Given the description of an element on the screen output the (x, y) to click on. 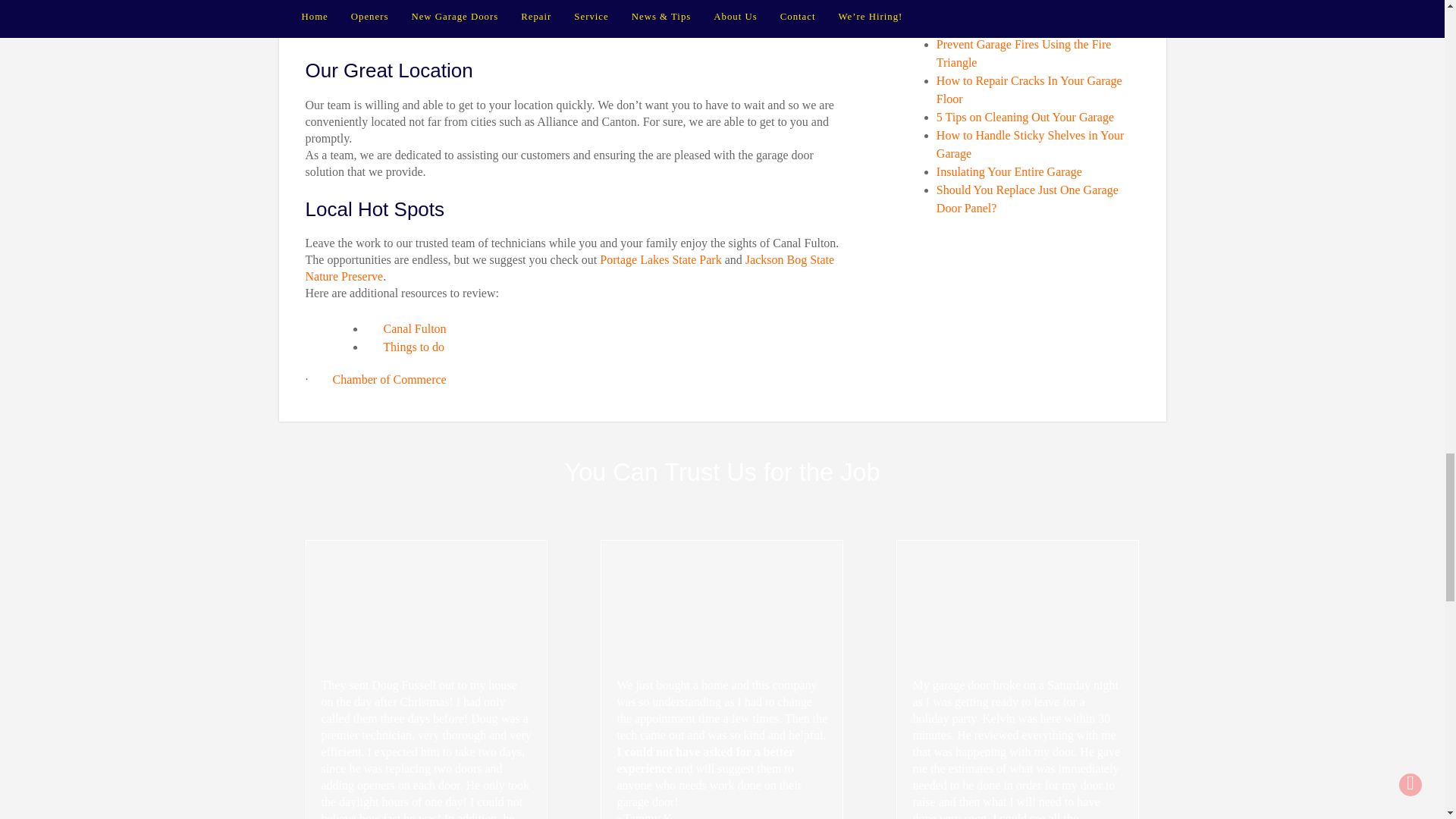
Prevent Garage Fires Using the Fire Triangle (1024, 52)
Should You Replace Just One Garage Door Panel? (1027, 198)
5 Tips on Cleaning Out Your Garage (1024, 116)
Things to do (413, 346)
How to Repair Cracks In Your Garage Floor (1029, 89)
Portage Lakes State Park (658, 259)
Insulating Your Entire Garage (1008, 171)
How to Handle Sticky Shelves in Your Garage (1030, 143)
Jackson Bog State Nature Preserve (569, 267)
How to Cool a Garage Without Windows in The Summer (1036, 16)
